Given the description of an element on the screen output the (x, y) to click on. 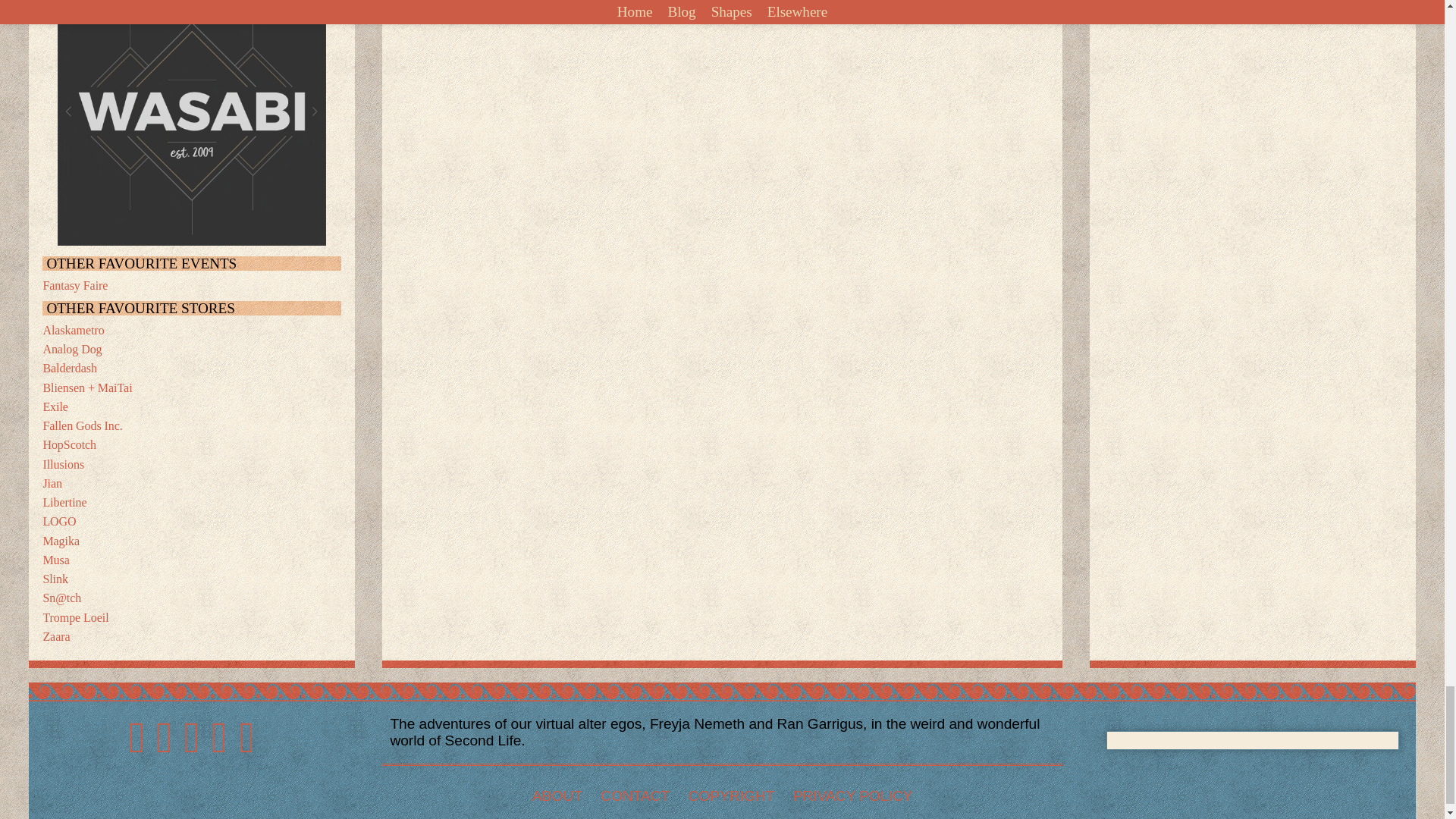
Wasabi (192, 122)
